Given the description of an element on the screen output the (x, y) to click on. 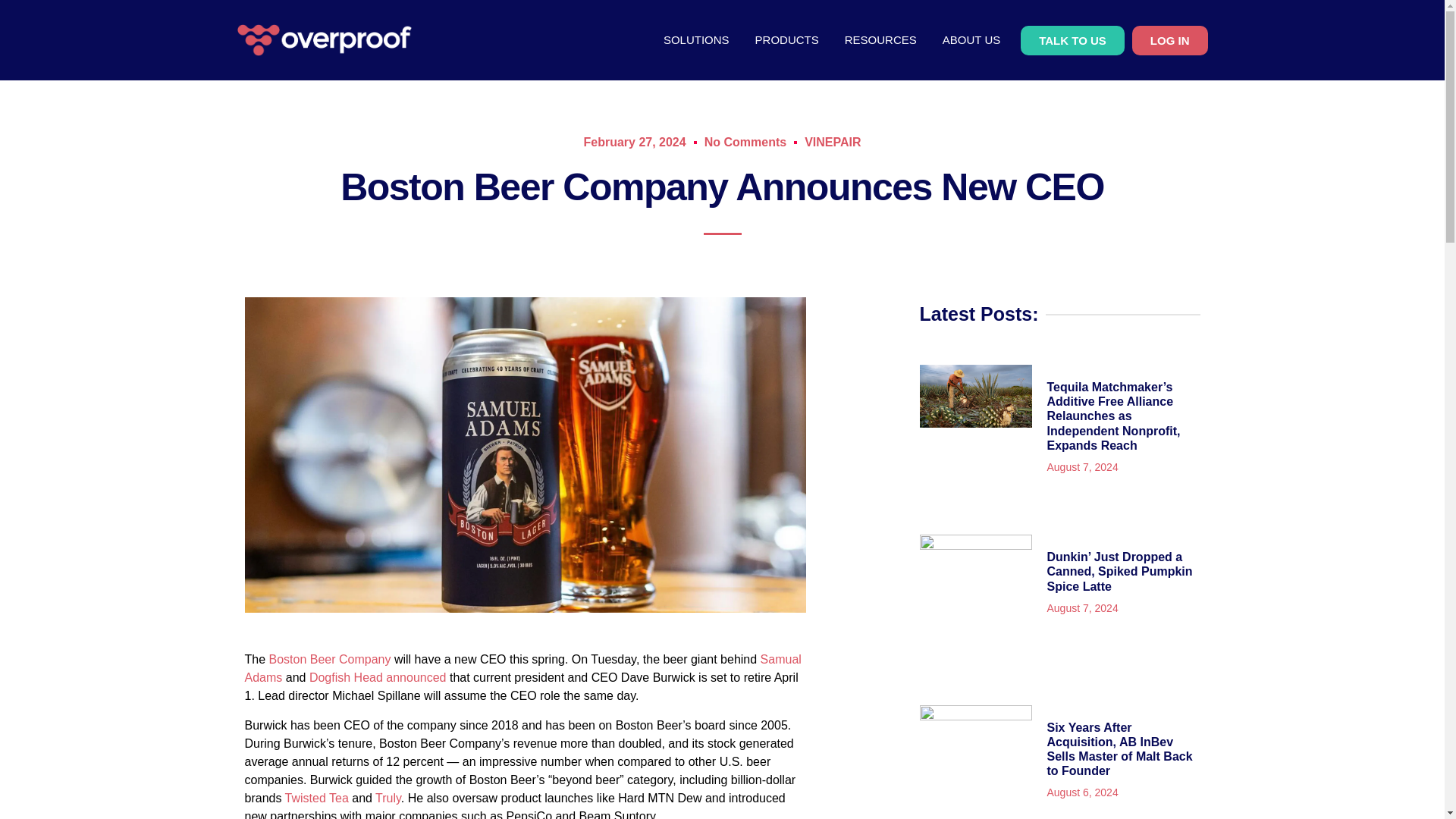
RESOURCES (880, 39)
SOLUTIONS (696, 39)
ABOUT US (971, 39)
PRODUCTS (786, 39)
Overproof (322, 40)
